Given the description of an element on the screen output the (x, y) to click on. 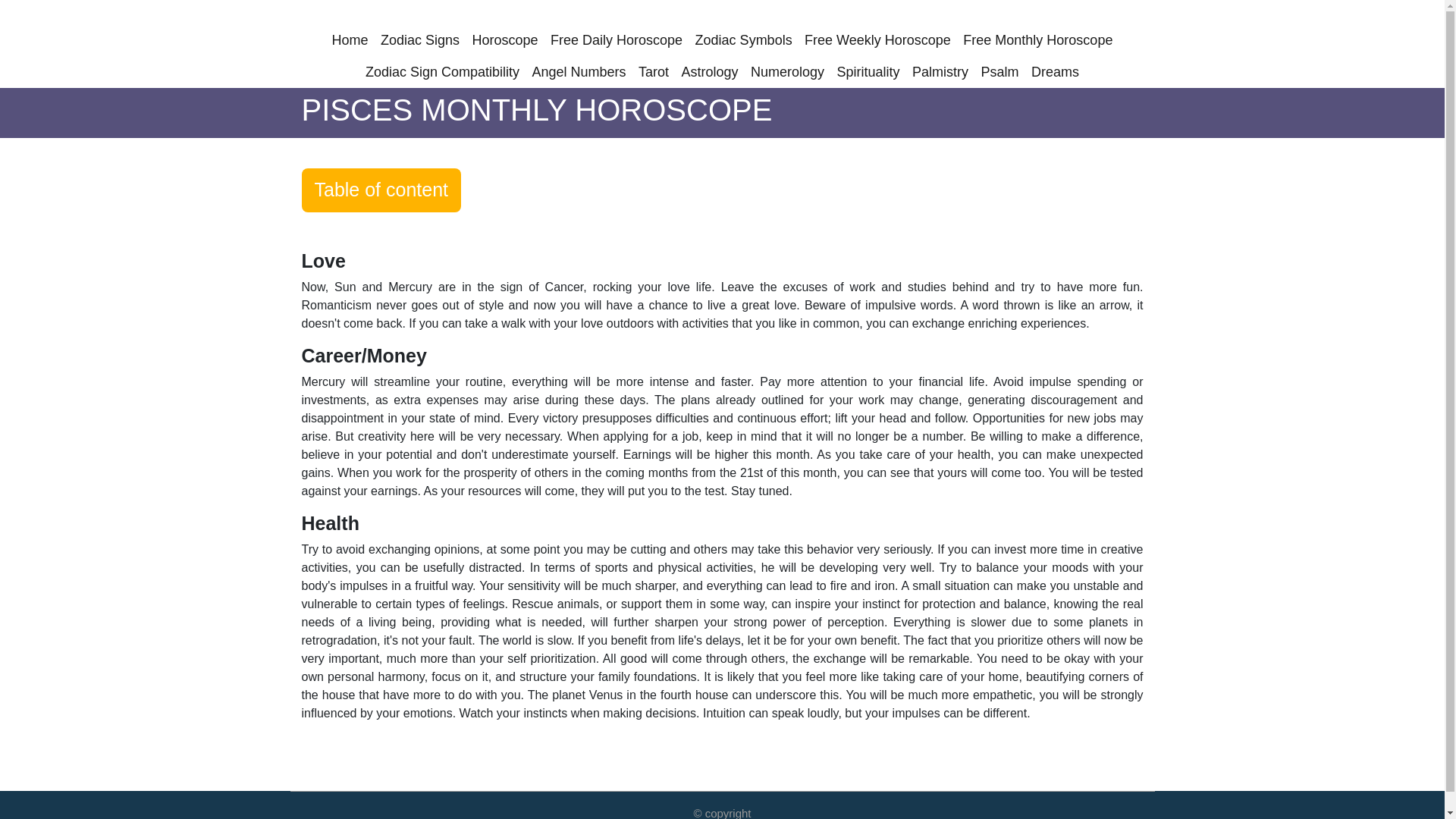
Zodiac Symbols (743, 40)
Zodiac Signs (420, 40)
Home (349, 40)
Spirituality (868, 71)
Palmistry (940, 71)
Zodiac Sign Compatibility (442, 71)
Psalm (1000, 71)
Free Daily Horoscope (616, 40)
Free Monthly Horoscope (1037, 40)
Dreams (1054, 71)
